Given the description of an element on the screen output the (x, y) to click on. 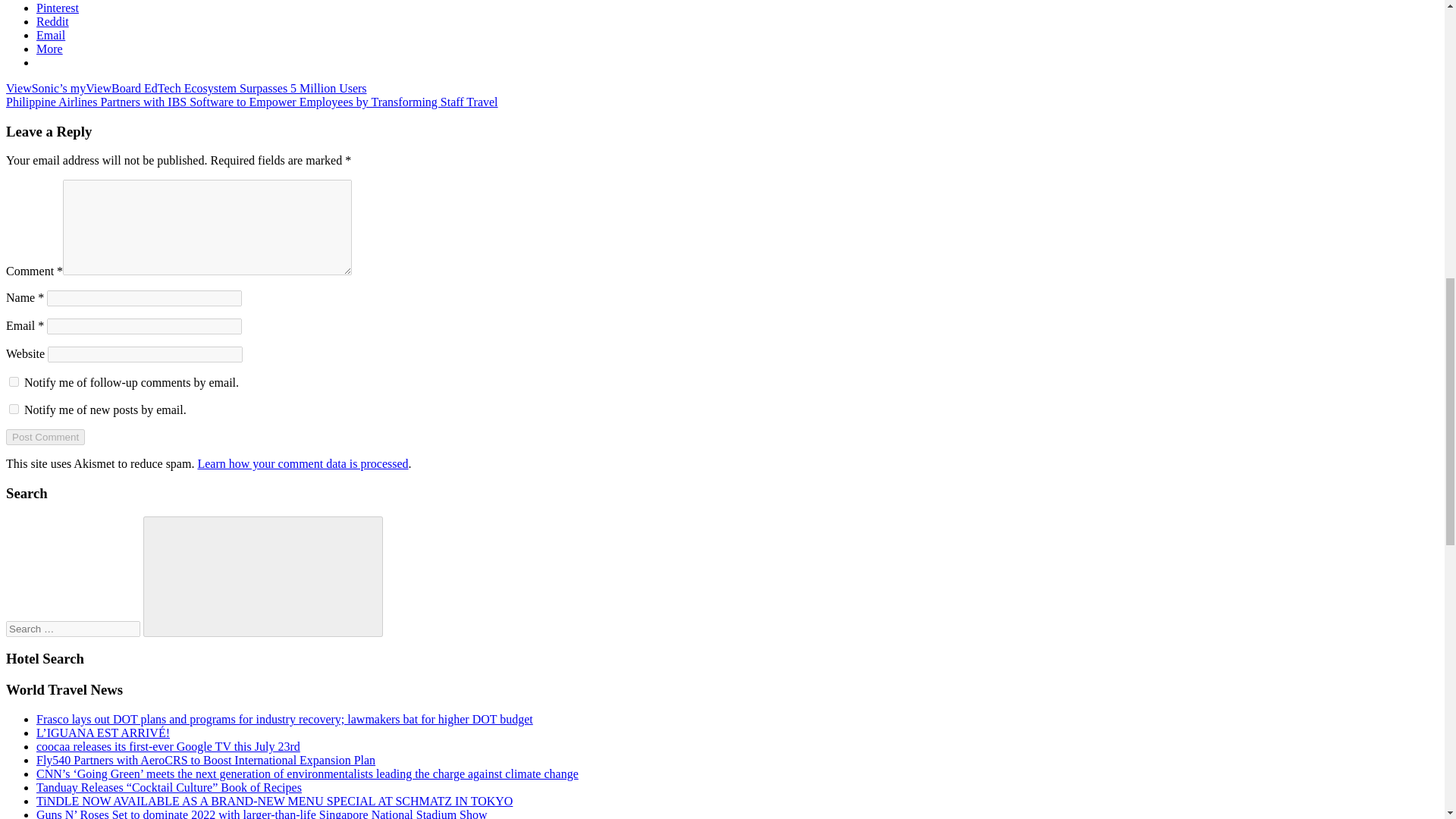
subscribe (13, 381)
Click to share on Pinterest (57, 7)
Click to email a link to a friend (50, 34)
coocaa releases its first-ever Google TV this July 23rd (167, 746)
Click to share on LinkedIn (58, 0)
Post Comment (44, 437)
Search (262, 576)
Pinterest (57, 7)
